Given the description of an element on the screen output the (x, y) to click on. 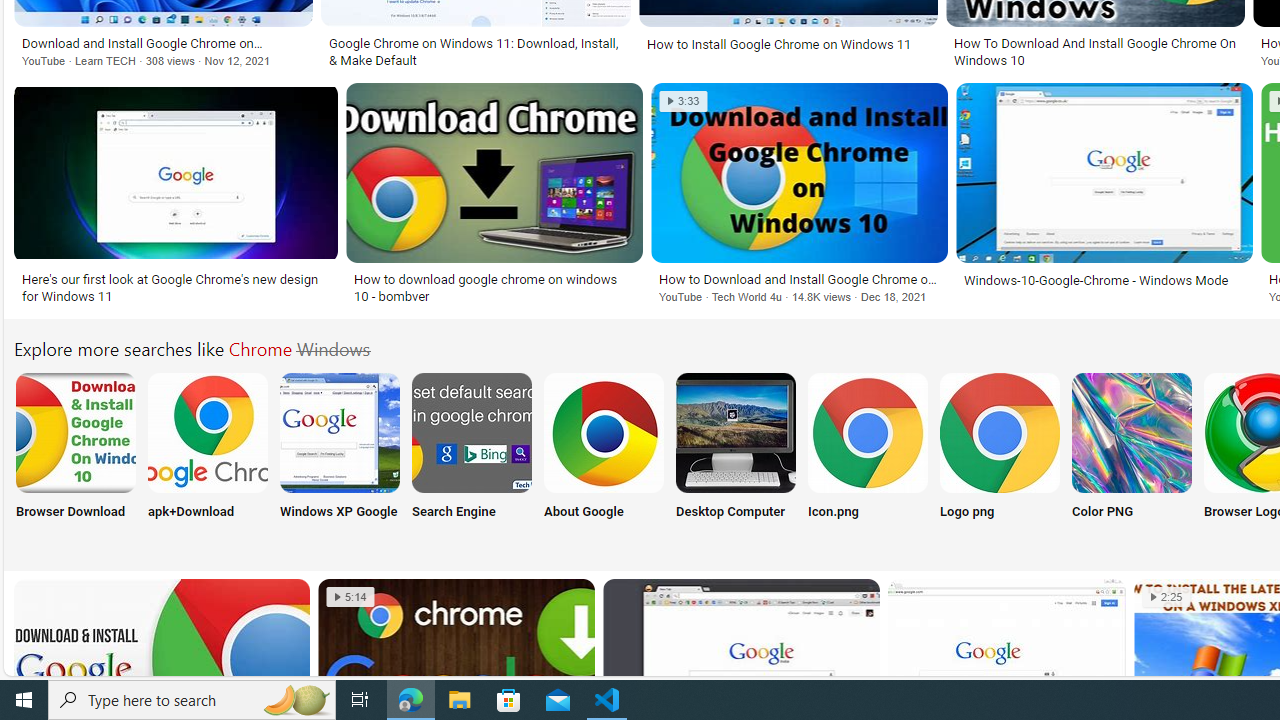
2:25 (1165, 597)
Chrome Logo.png Logo png (999, 458)
How to Install Google Chrome on Windows 11 (778, 44)
How To Download And Install Google Chrome On Windows 10 (1094, 52)
Chrome Search Engine Search Engine (472, 458)
Chrome Icon.png (867, 432)
Chrome Browser Download Browser Download (75, 458)
Windows XP Google Chrome (339, 432)
Windows XP Google (339, 457)
Windows XP Google Chrome Windows XP Google (339, 458)
Browser Download (74, 457)
Chrome Icon.png Icon.png (867, 458)
How to Install Google Chrome on Windows 11 (788, 44)
